Given the description of an element on the screen output the (x, y) to click on. 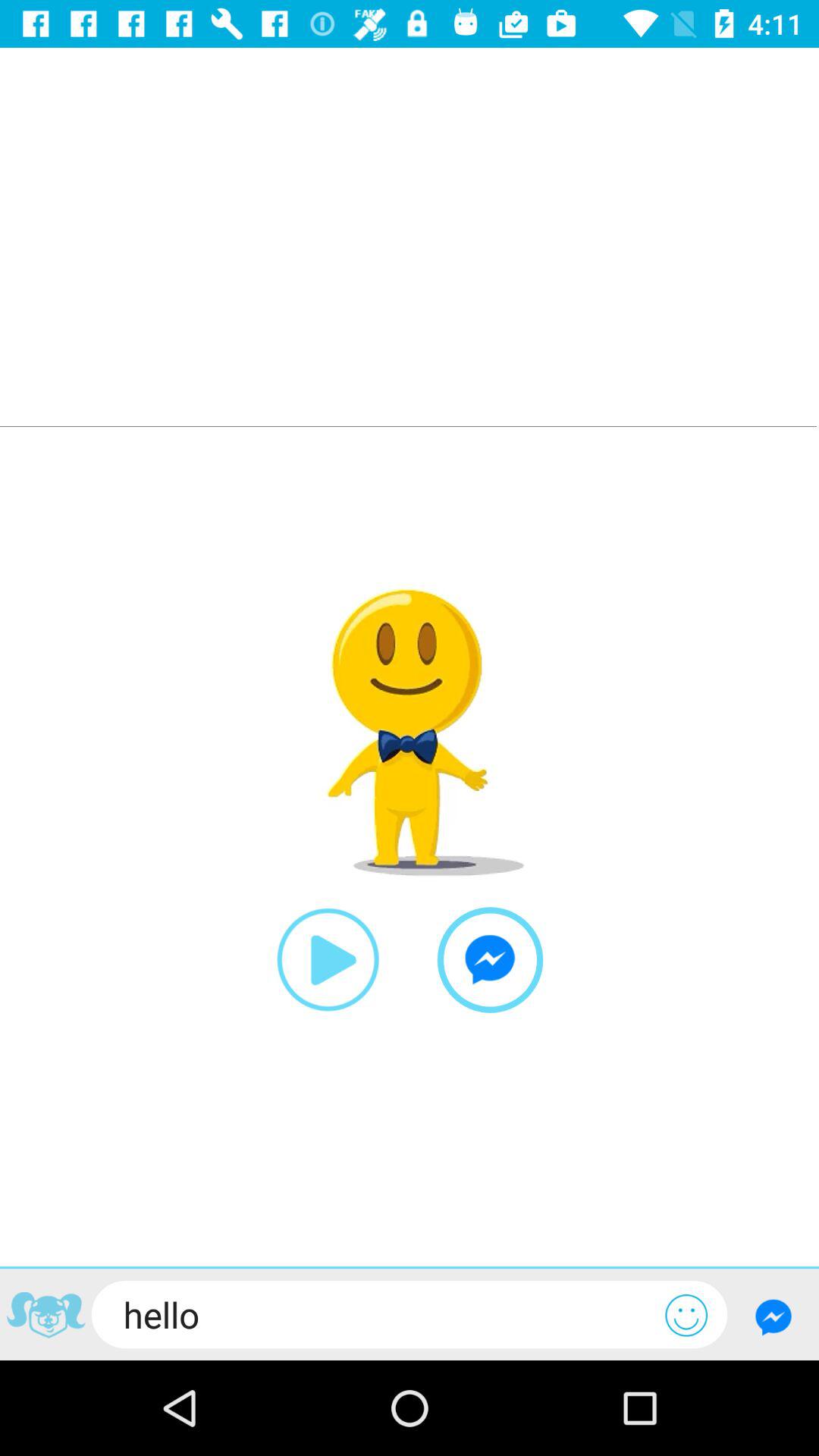
share in message (490, 959)
